Given the description of an element on the screen output the (x, y) to click on. 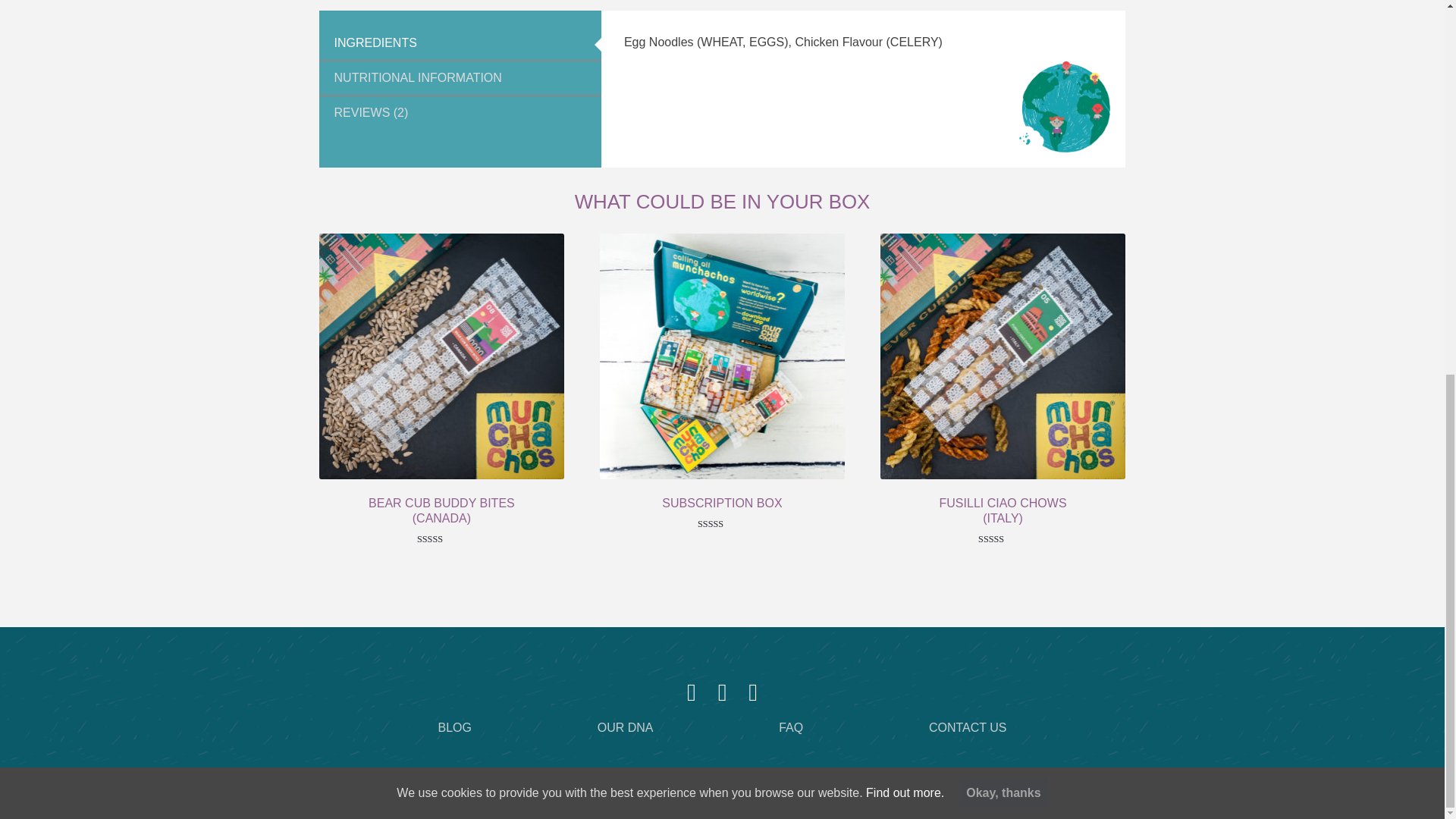
NUTRITIONAL INFORMATION (459, 78)
CONTACT US (967, 727)
INGREDIENTS (459, 42)
BLOG (454, 727)
FAQ (790, 727)
Acceptable Use Policy (189, 791)
OUR DNA (624, 727)
